Given the description of an element on the screen output the (x, y) to click on. 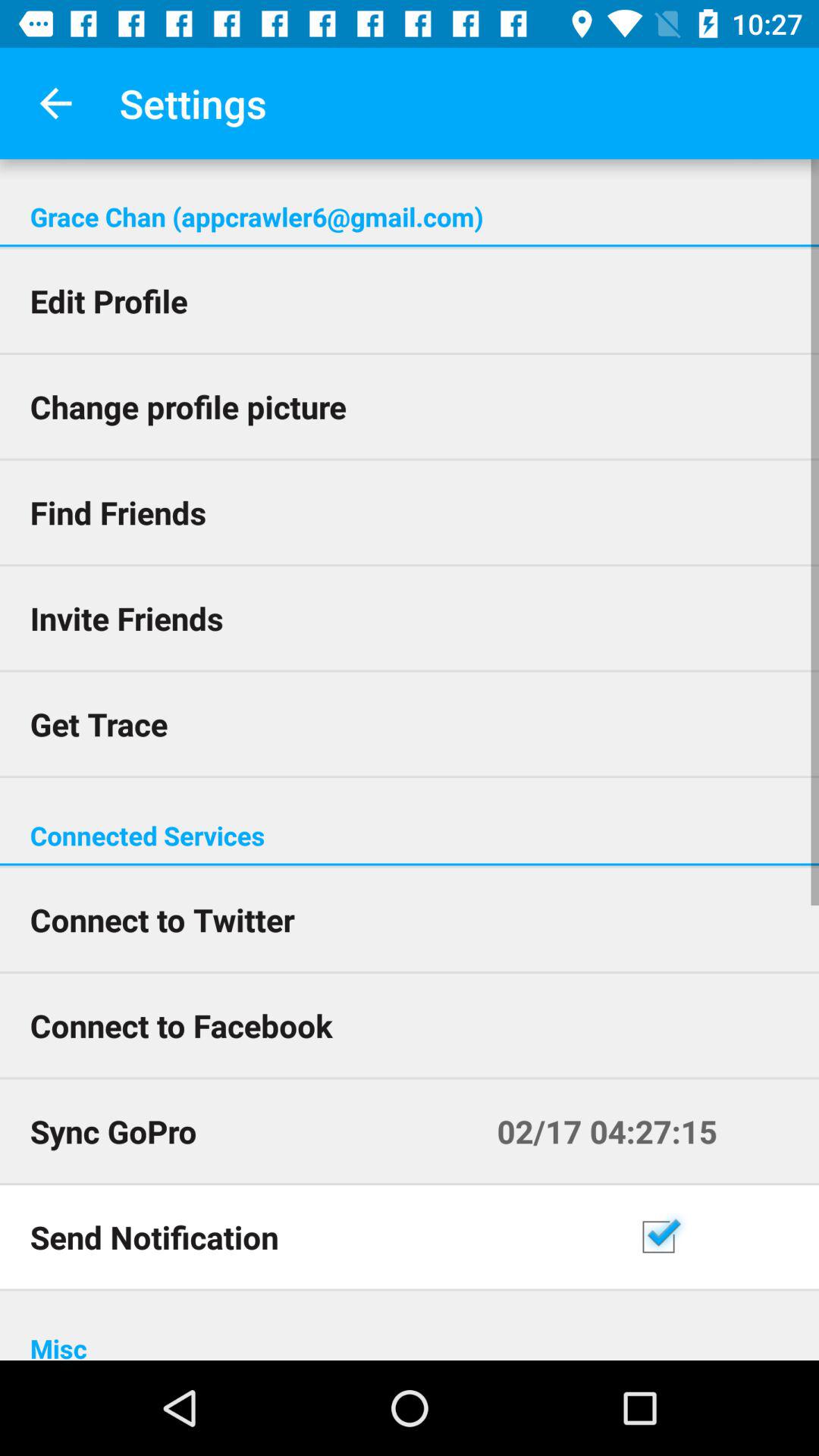
click item next to send notification (722, 1236)
